Given the description of an element on the screen output the (x, y) to click on. 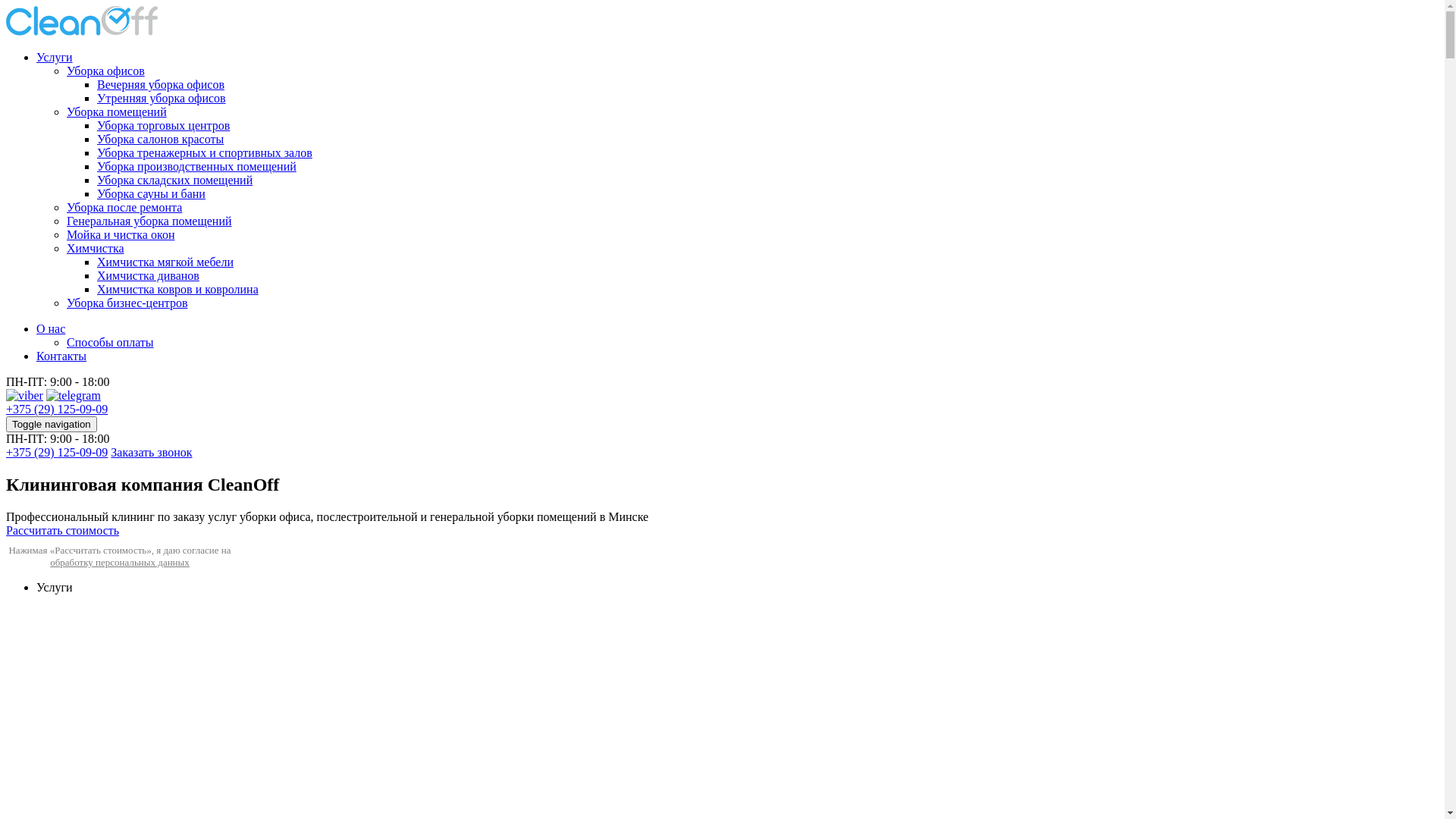
Toggle navigation Element type: text (51, 424)
+375 (29) 125-09-09 Element type: text (56, 408)
+375 (29) 125-09-09 Element type: text (56, 451)
